Given the description of an element on the screen output the (x, y) to click on. 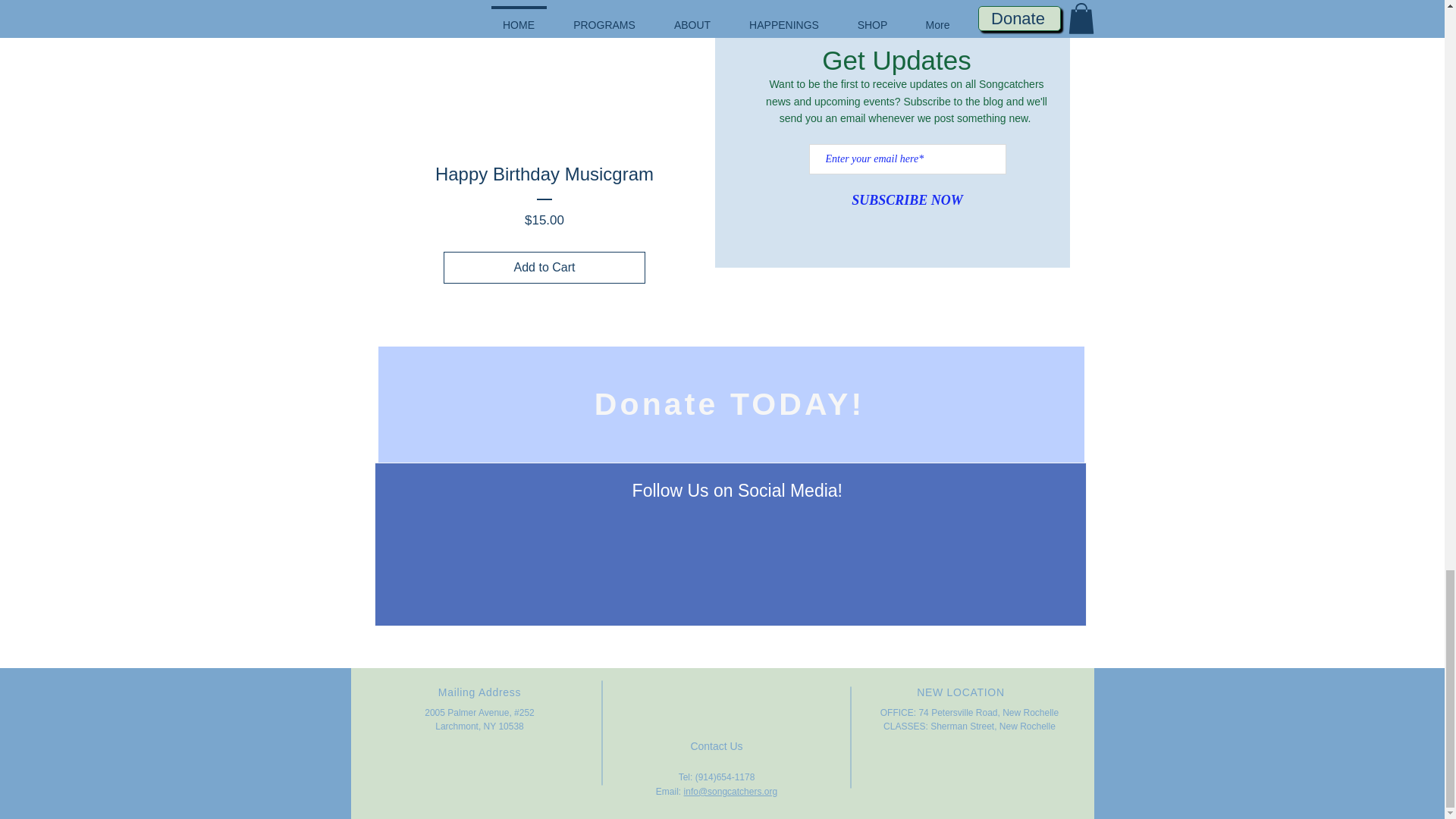
Donate TODAY! (730, 404)
SUBSCRIBE NOW (907, 200)
Add to Cart (545, 267)
